Given the description of an element on the screen output the (x, y) to click on. 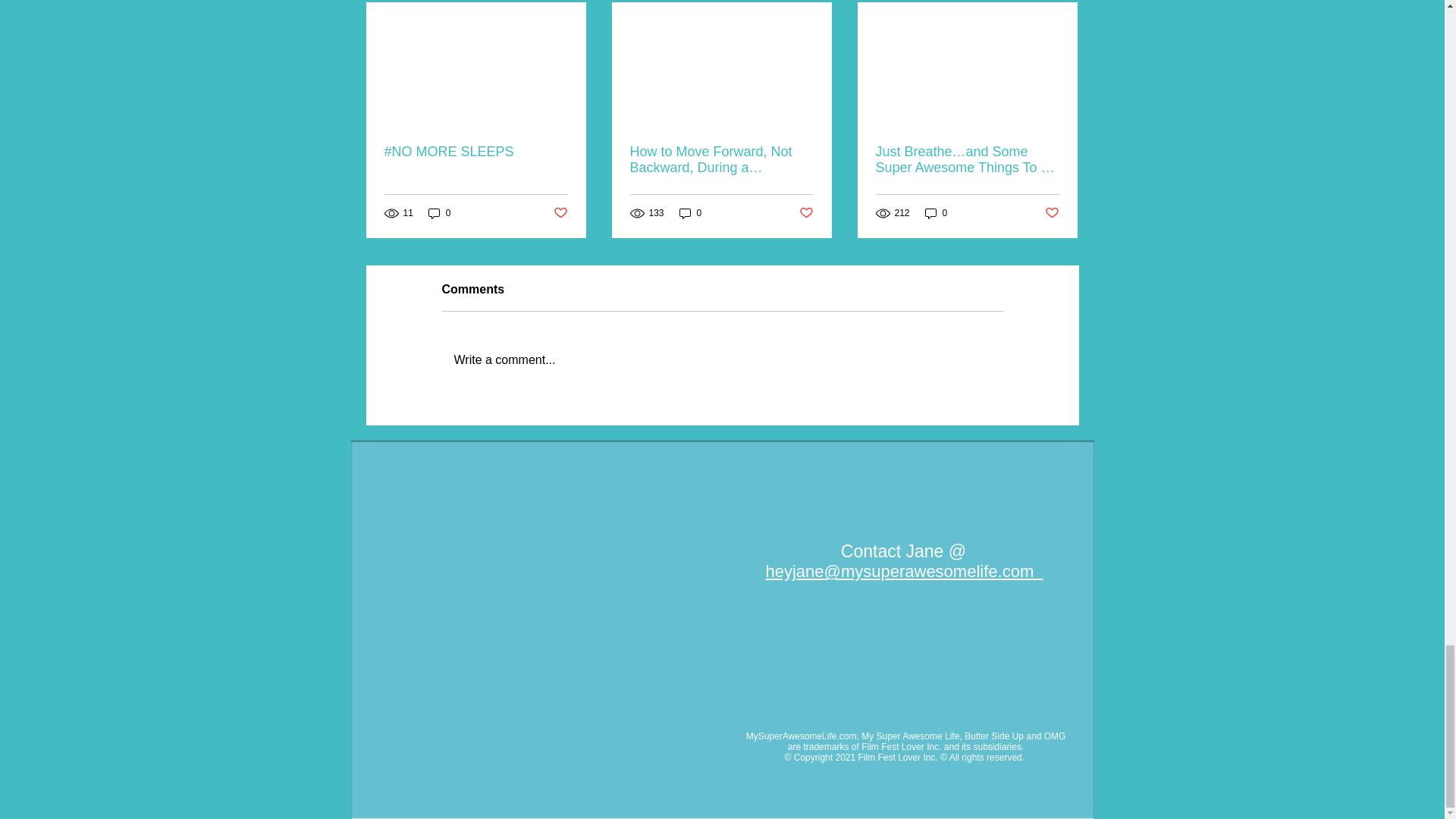
0 (439, 213)
